Given the description of an element on the screen output the (x, y) to click on. 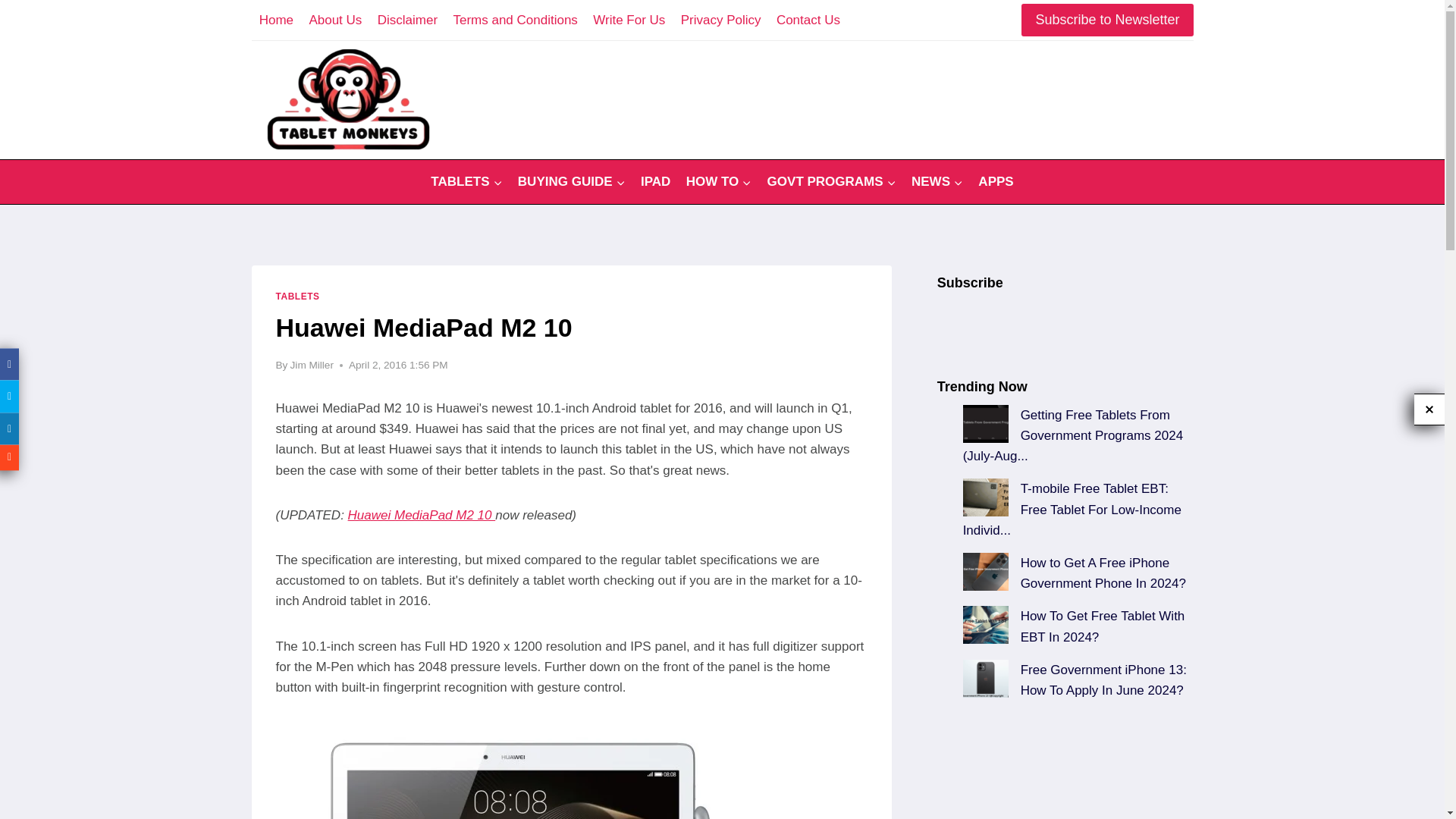
Disclaimer (407, 19)
Jim Miller (311, 365)
Write For Us (628, 19)
APPS (996, 181)
HOW TO (718, 181)
BUYING GUIDE (572, 181)
Privacy Policy (720, 19)
Terms and Conditions (515, 19)
About Us (335, 19)
TABLETS (467, 181)
Contact Us (807, 19)
TABLETS (298, 296)
NEWS (937, 181)
Subscribe to Newsletter (1107, 20)
